Given the description of an element on the screen output the (x, y) to click on. 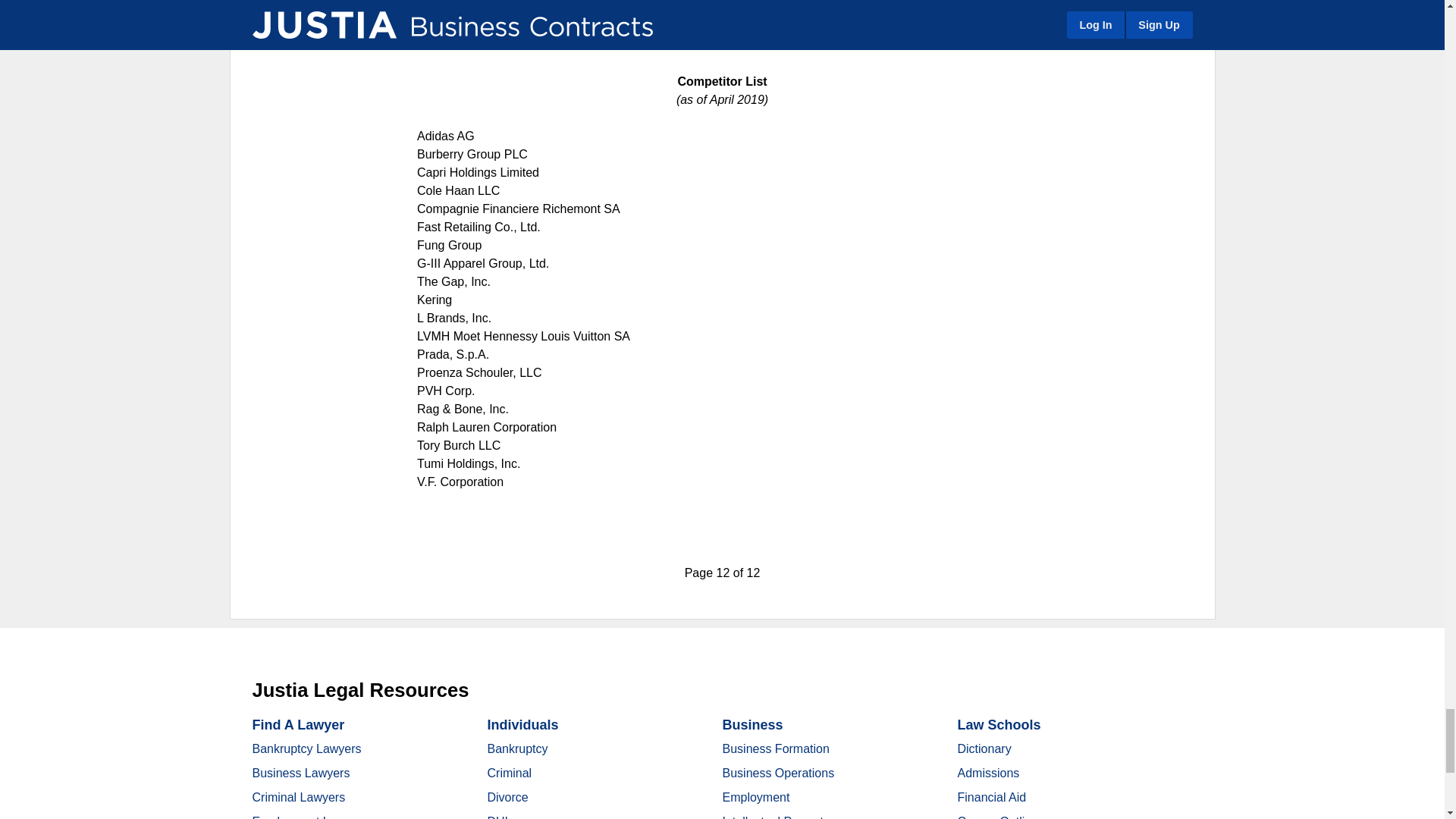
Bankruptcy Lawyers (306, 748)
Individuals (521, 724)
Find A Lawyer (297, 724)
Employment Lawyers (309, 816)
Criminal Lawyers (298, 797)
Bankruptcy (516, 748)
Business Lawyers (300, 772)
